Given the description of an element on the screen output the (x, y) to click on. 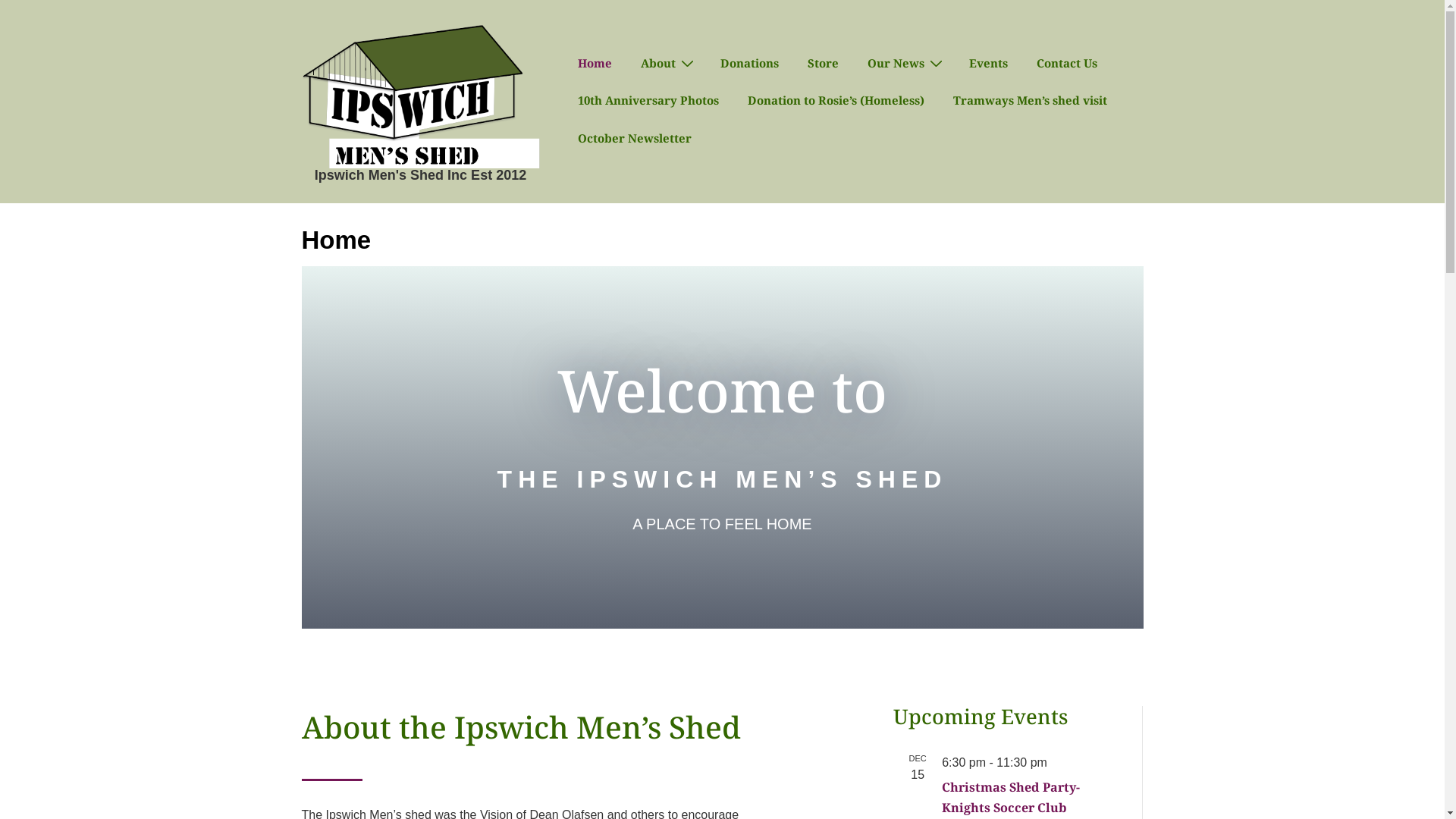
Our News Element type: text (903, 62)
Contact Us Element type: text (1066, 62)
Store Element type: text (822, 62)
Donations Element type: text (749, 62)
Ipswich Men's Shed Inc Est 2012 Element type: text (420, 174)
About Element type: text (665, 62)
Home Element type: text (594, 62)
Events Element type: text (988, 62)
October Newsletter Element type: text (634, 137)
10th Anniversary Photos Element type: text (648, 99)
